Given the description of an element on the screen output the (x, y) to click on. 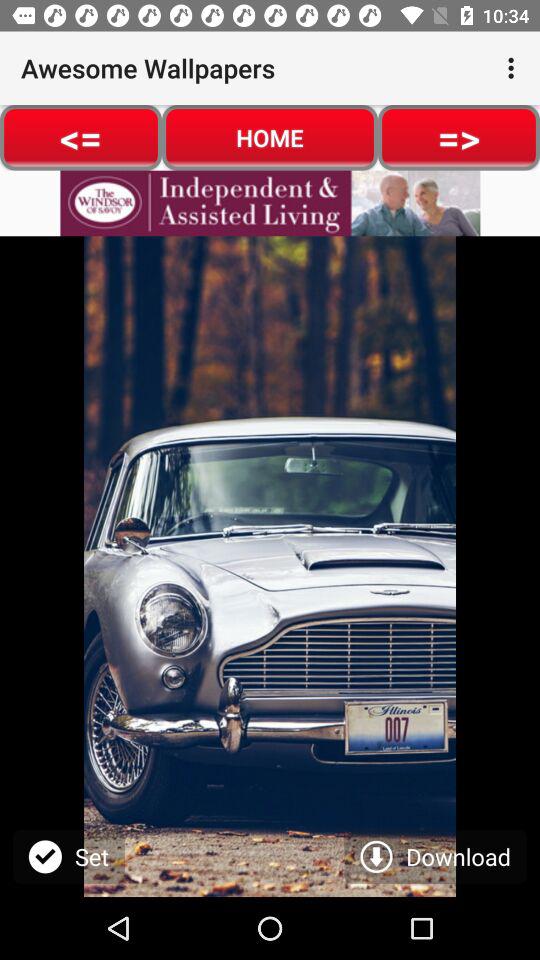
click discription (270, 203)
